Given the description of an element on the screen output the (x, y) to click on. 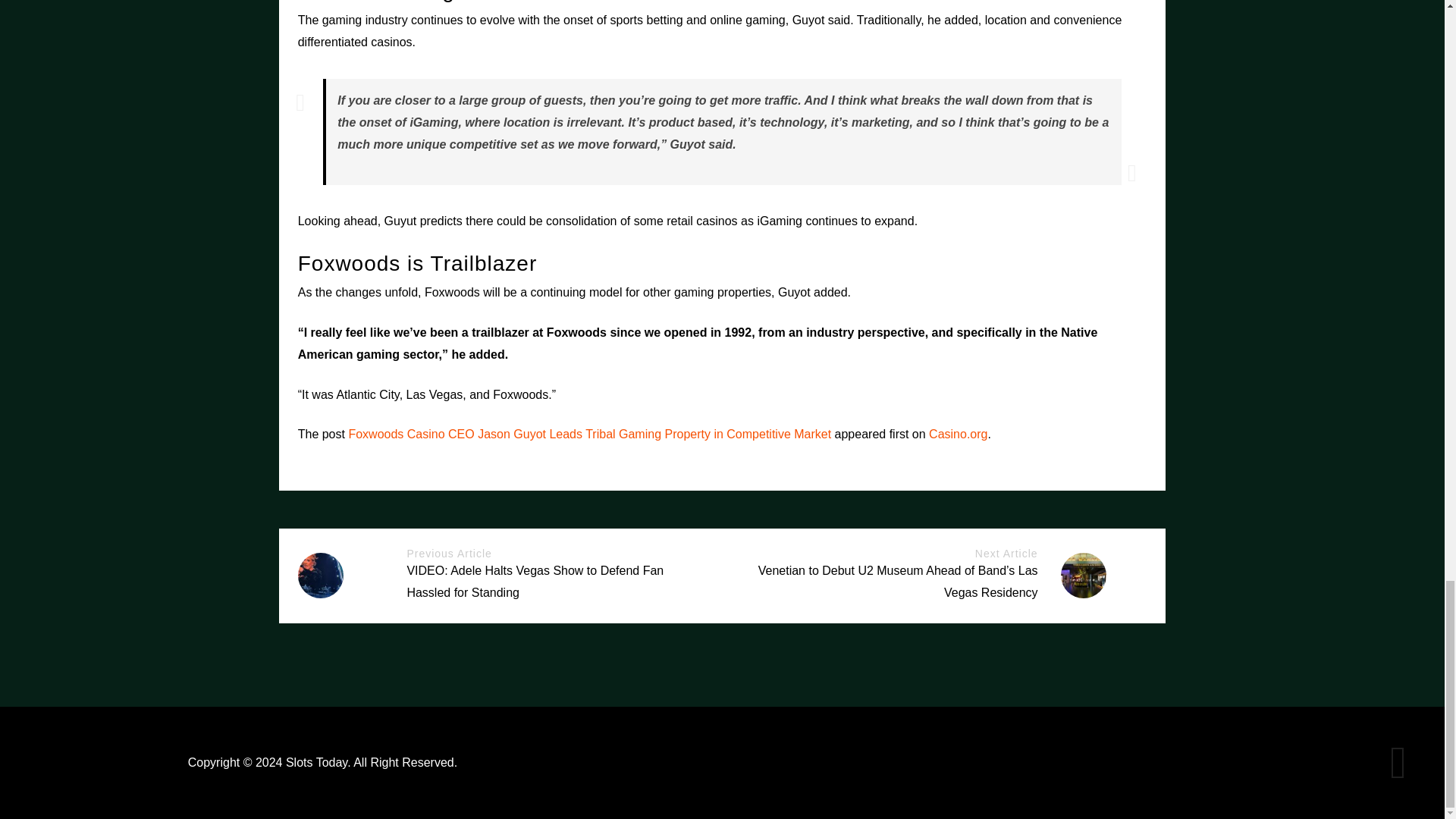
Casino.org (957, 433)
